Given the description of an element on the screen output the (x, y) to click on. 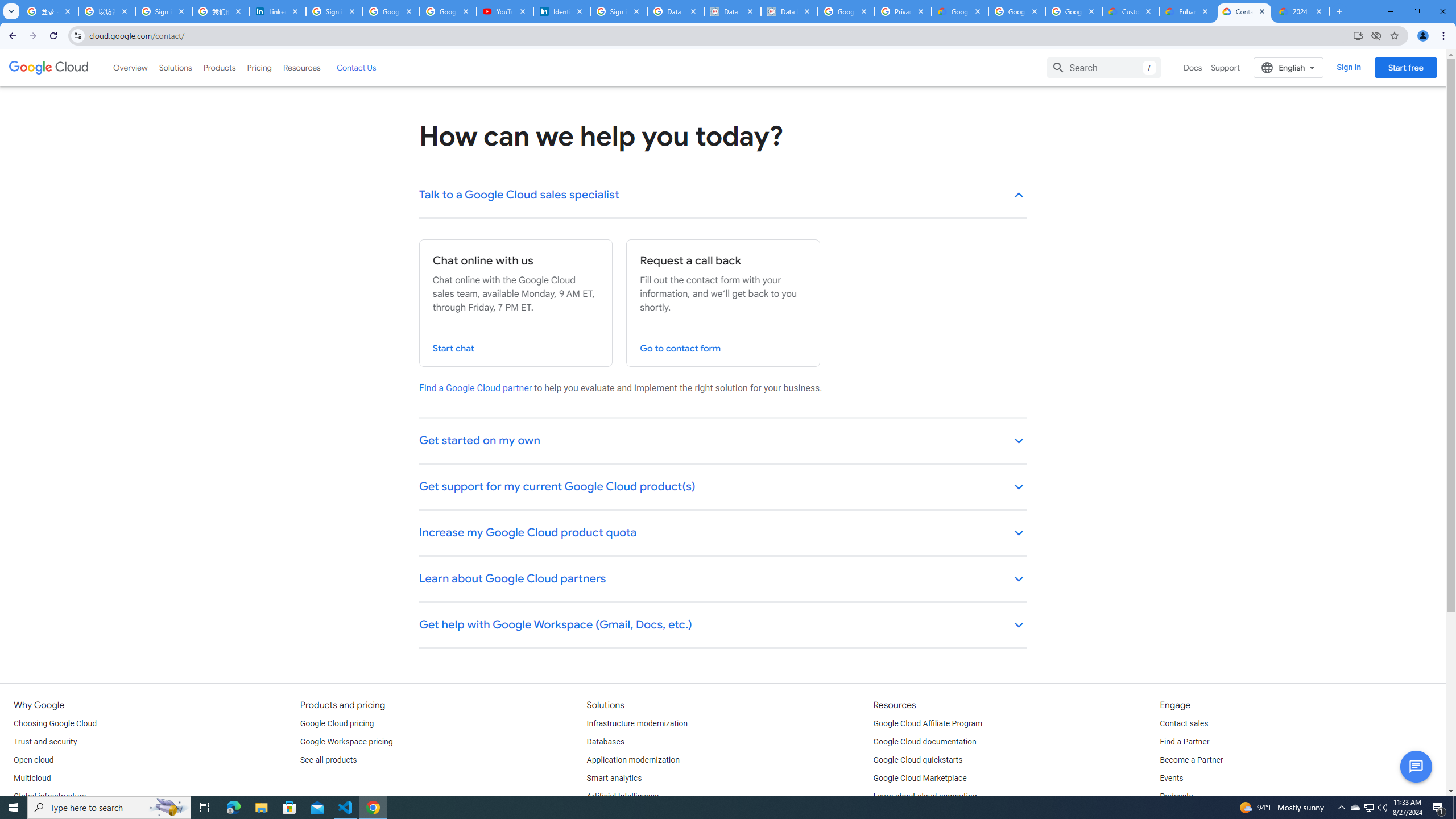
Contact Us (355, 67)
Google Cloud quickstarts (917, 760)
Learn about cloud computing (924, 796)
Google Cloud Affiliate Program (927, 723)
Start free (1405, 67)
Pricing (259, 67)
Solutions (175, 67)
Install Google Cloud (1358, 35)
Databases (605, 742)
